Given the description of an element on the screen output the (x, y) to click on. 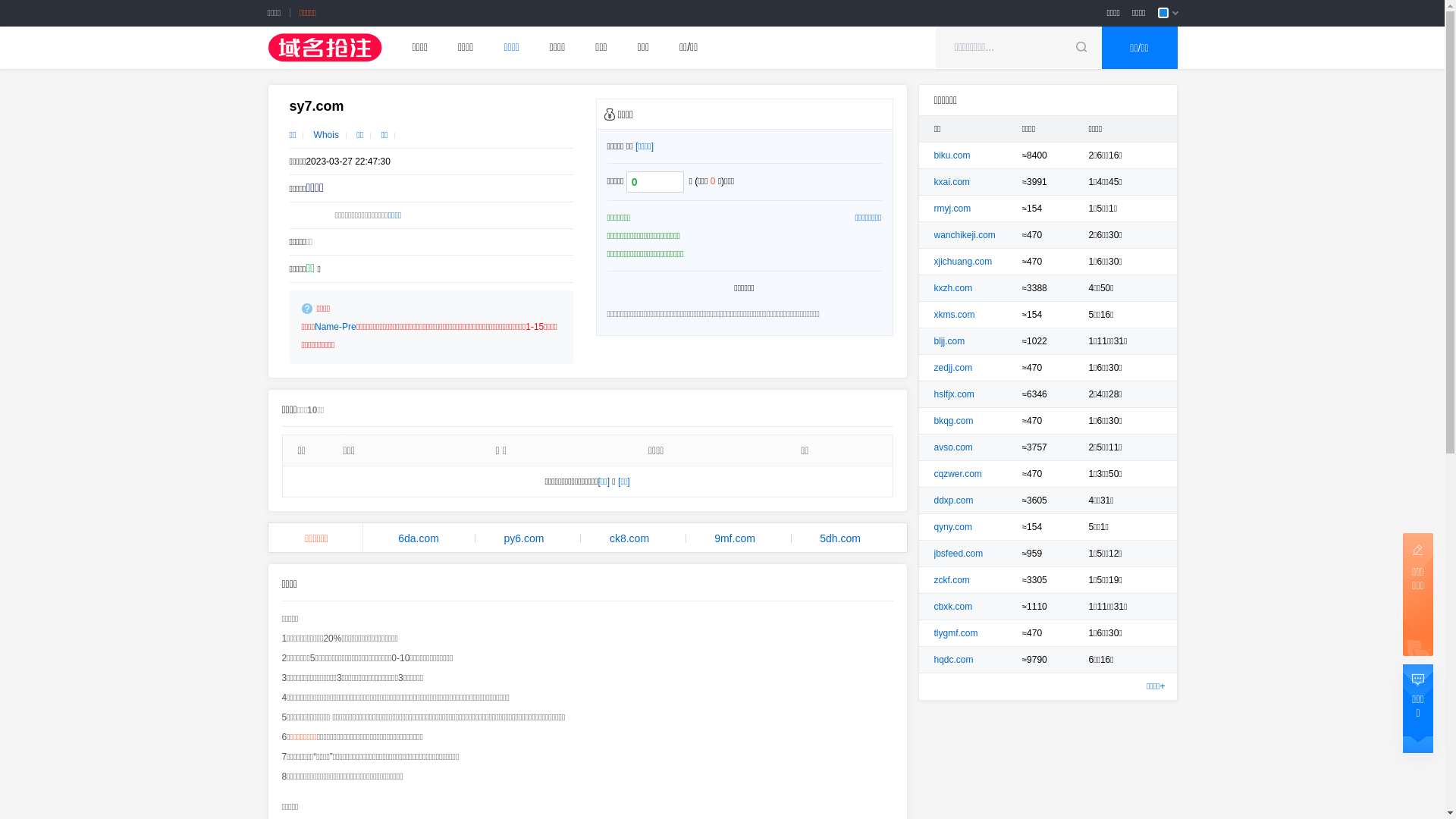
jbsfeed.com Element type: text (958, 553)
hqdc.com Element type: text (953, 659)
tlygmf.com Element type: text (956, 632)
cbxk.com Element type: text (953, 606)
zedjj.com Element type: text (953, 367)
avso.com Element type: text (953, 447)
py6.com Element type: text (524, 538)
zckf.com Element type: text (951, 579)
6da.com Element type: text (417, 538)
ck8.com Element type: text (628, 538)
bljj.com Element type: text (949, 340)
wanchikeji.com Element type: text (964, 234)
bkqg.com Element type: text (953, 420)
rmyj.com Element type: text (952, 208)
biku.com Element type: text (952, 155)
cqzwer.com Element type: text (958, 473)
5dh.com Element type: text (839, 538)
xjichuang.com Element type: text (963, 261)
Name-Pre Element type: text (335, 326)
Whois Element type: text (326, 134)
kxai.com Element type: text (951, 181)
qyny.com Element type: text (953, 526)
kxzh.com Element type: text (953, 287)
xkms.com Element type: text (954, 314)
9mf.com Element type: text (734, 538)
hslfjx.com Element type: text (954, 394)
ddxp.com Element type: text (953, 500)
